Given the description of an element on the screen output the (x, y) to click on. 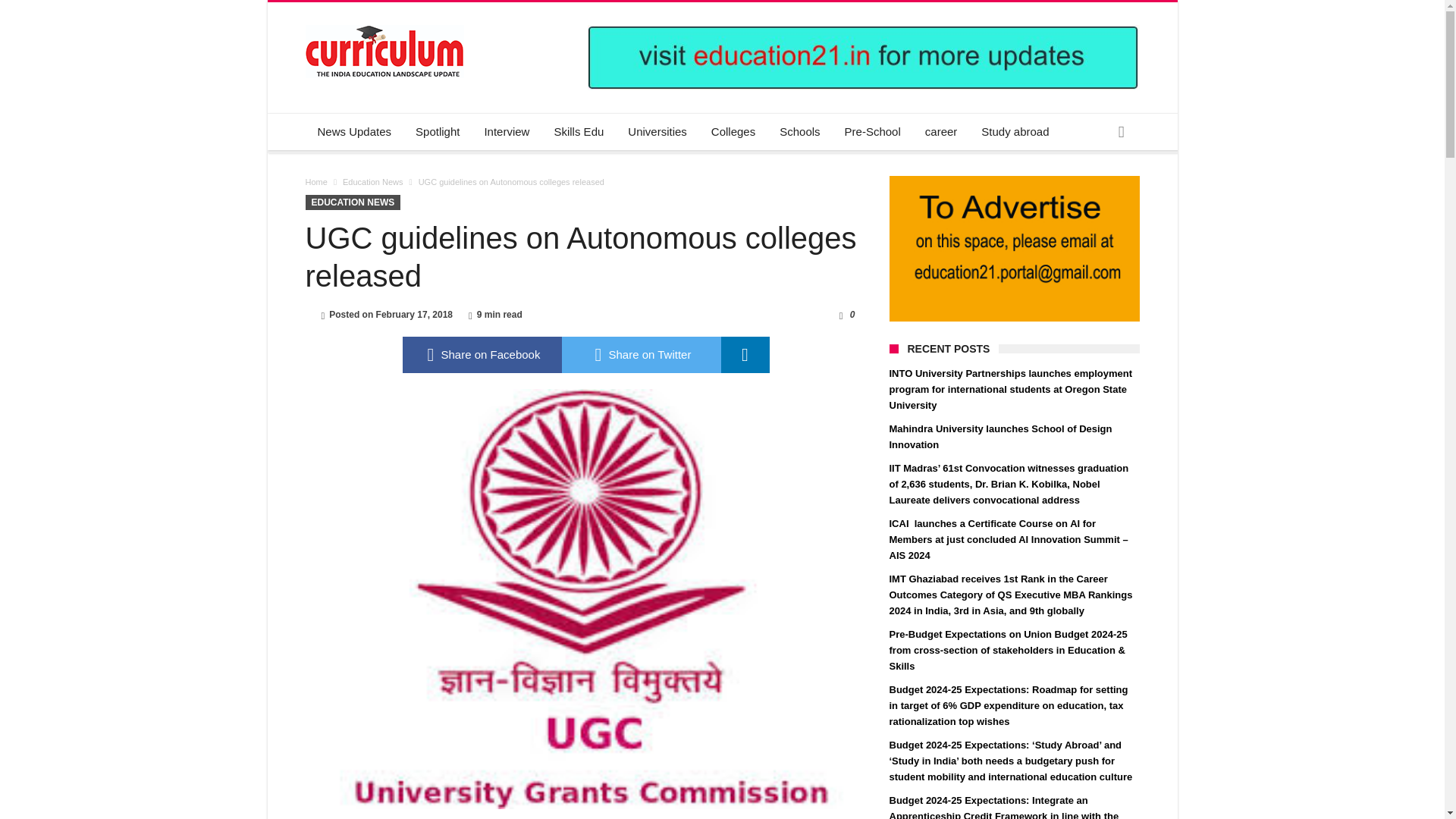
Schools (799, 131)
I like this article (840, 314)
career (940, 131)
Universities (656, 131)
Share on Facebook (480, 354)
twitter (640, 354)
Home (315, 181)
Share on Linkedin (744, 354)
Skills Edu (578, 131)
Spotlight (437, 131)
Pre-School (872, 131)
Colleges (732, 131)
Curriculum Magazine (383, 24)
Share on Twitter (640, 354)
Education News (372, 181)
